Given the description of an element on the screen output the (x, y) to click on. 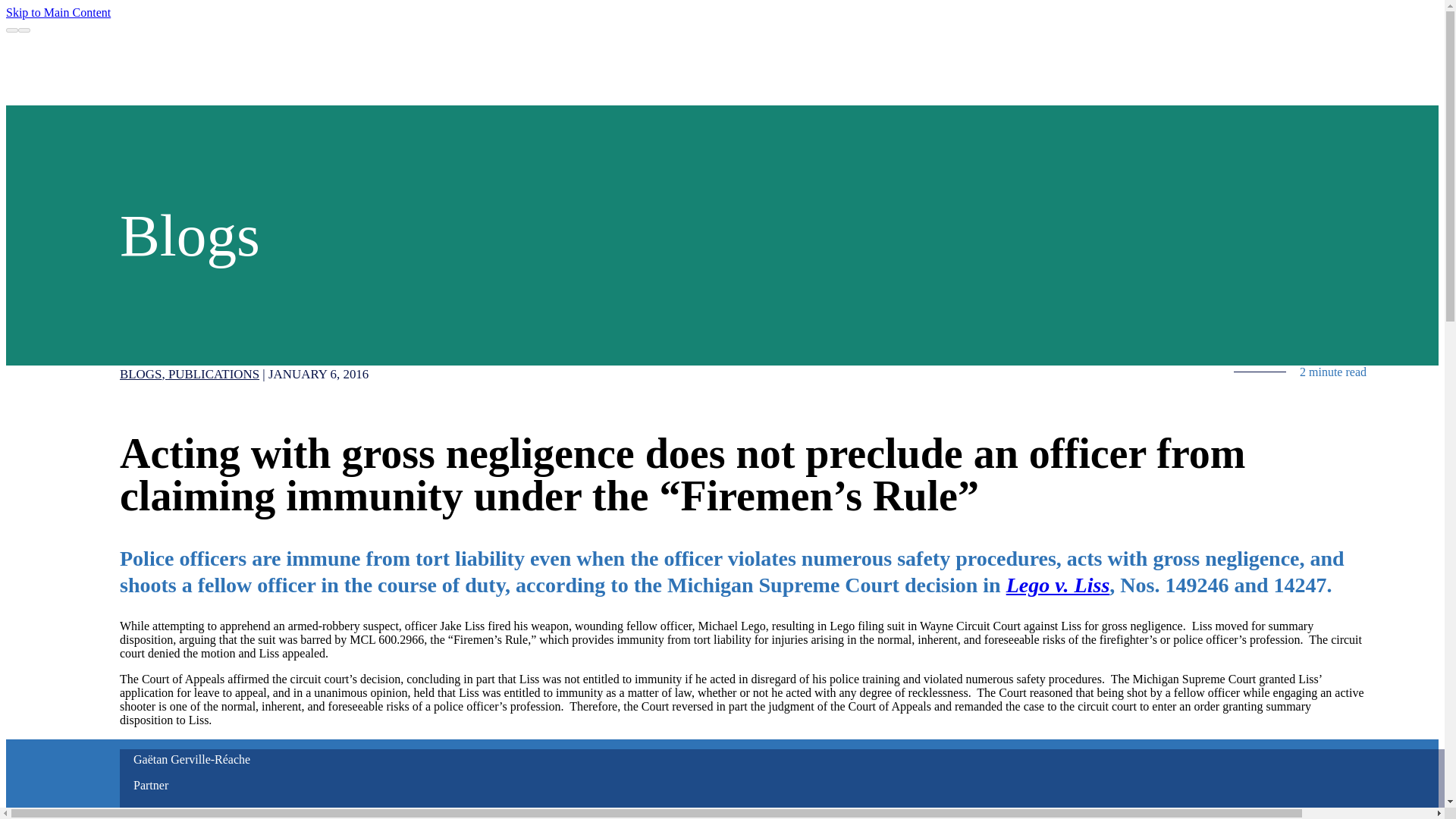
Lego v. Liss (1057, 585)
Skip to Main Content (57, 11)
